Given the description of an element on the screen output the (x, y) to click on. 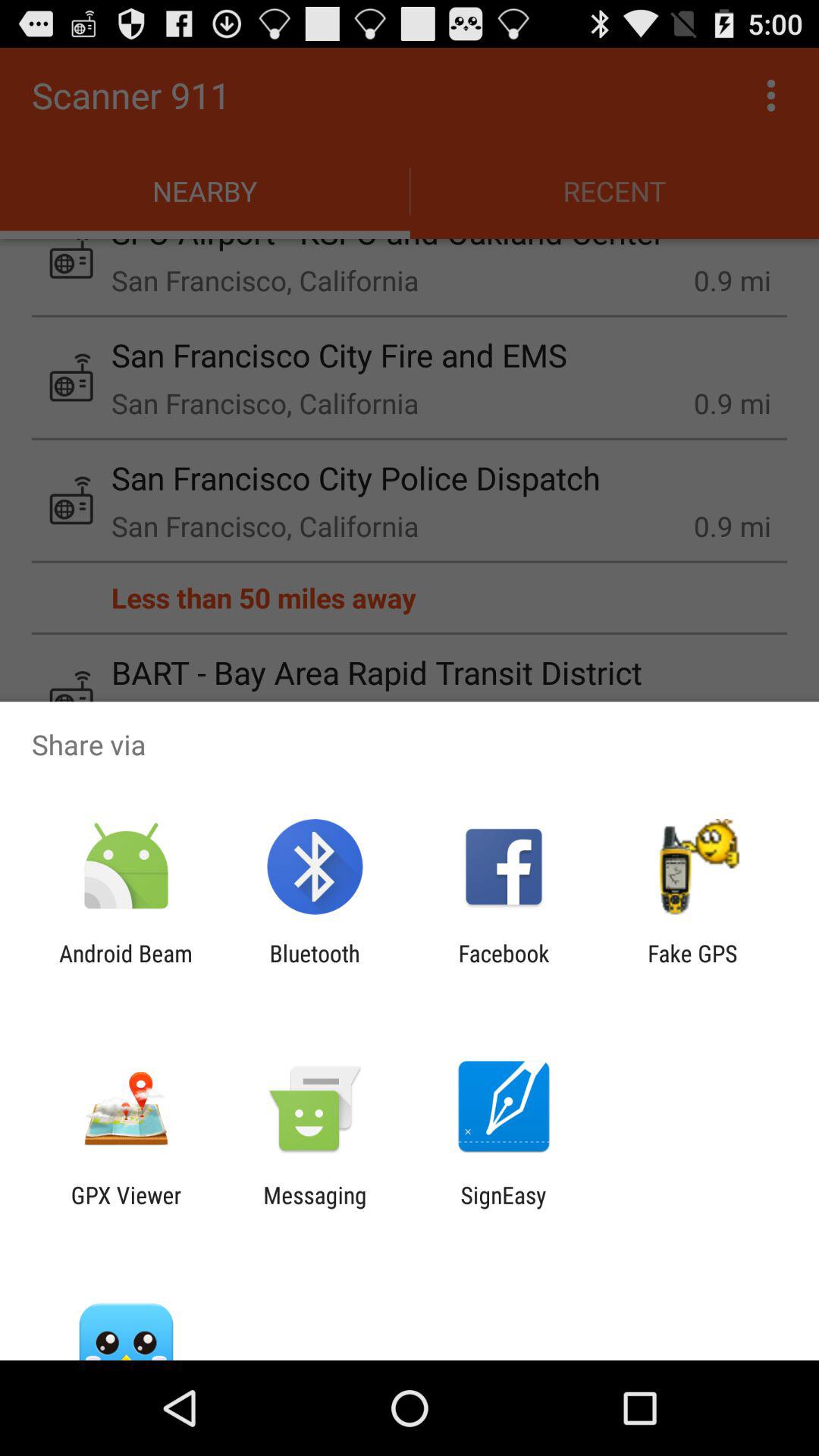
launch item to the right of facebook app (692, 966)
